Given the description of an element on the screen output the (x, y) to click on. 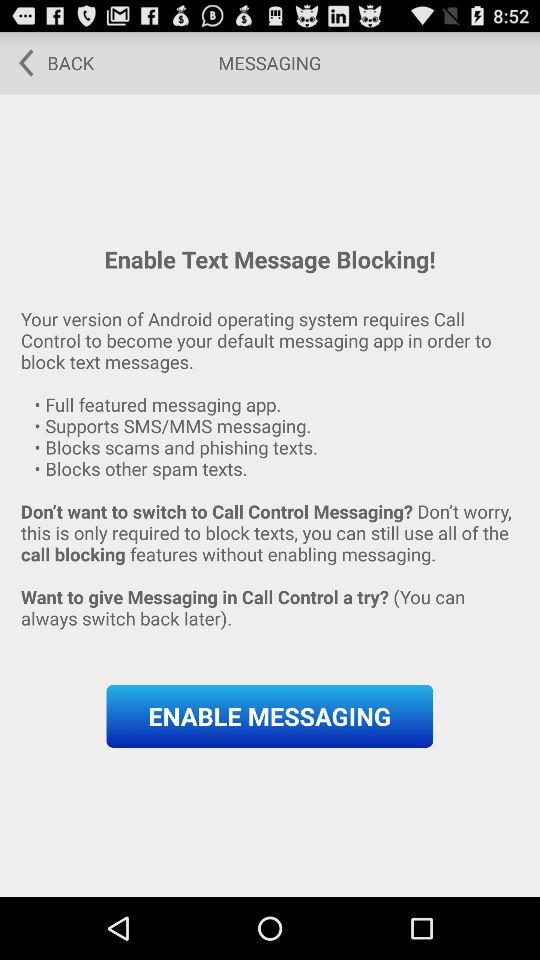
turn on app below the your version of icon (269, 715)
